Given the description of an element on the screen output the (x, y) to click on. 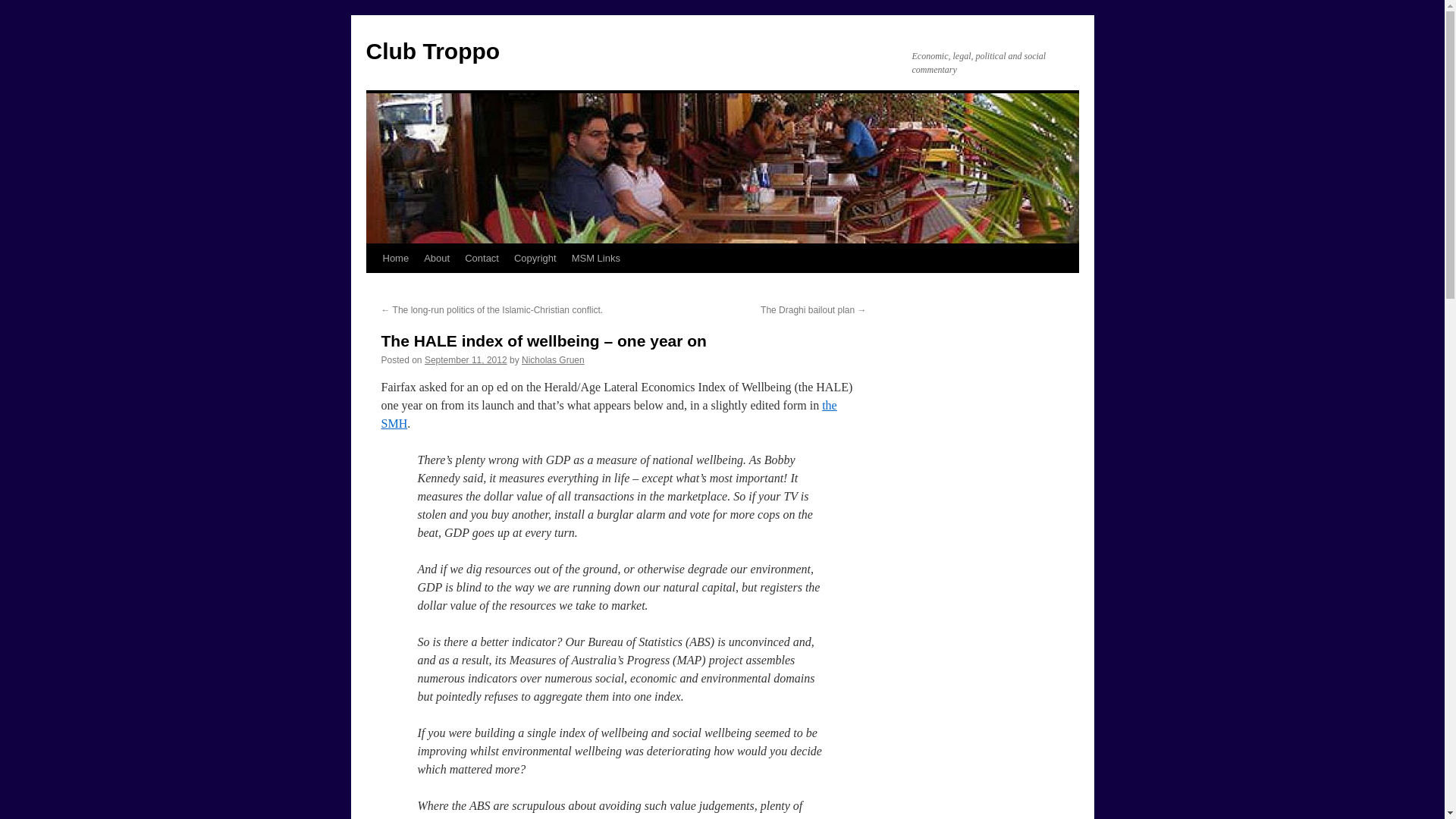
Club Troppo (432, 50)
Home (395, 258)
About (436, 258)
Nicholas Gruen (553, 359)
Club Troppo (432, 50)
September 11, 2012 (465, 359)
MSM Links (595, 258)
the SMH (607, 413)
7:29 am (465, 359)
Copyright (535, 258)
